Given the description of an element on the screen output the (x, y) to click on. 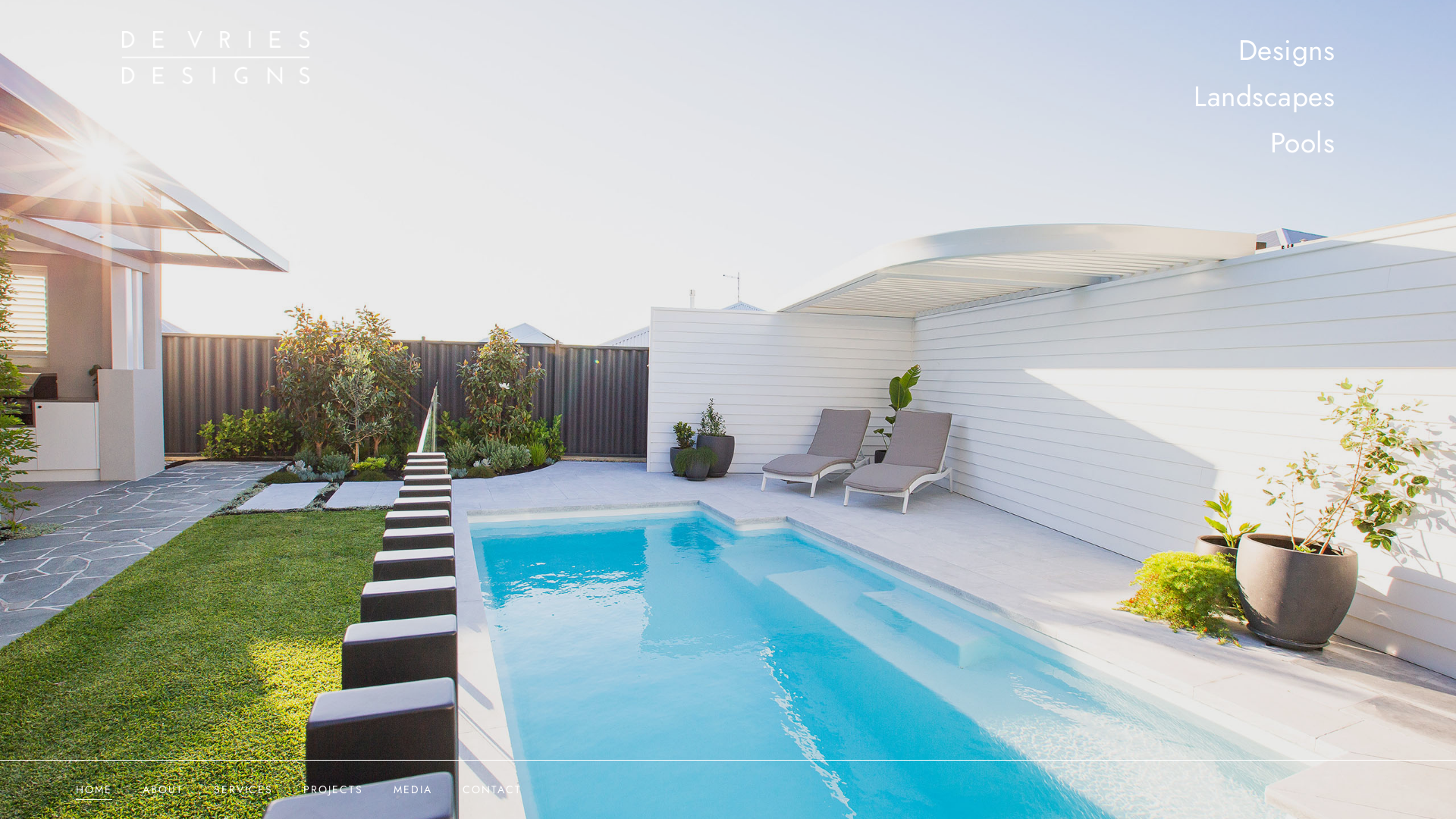
Designs Element type: text (1285, 50)
CONTACT Element type: text (491, 789)
PROJECTS Element type: text (333, 789)
HOME Element type: text (93, 789)
MEDIA Element type: text (412, 789)
Landscapes Element type: text (1263, 96)
ABOUT Element type: text (162, 789)
Pools Element type: text (1301, 142)
SERVICES Element type: text (243, 789)
